Given the description of an element on the screen output the (x, y) to click on. 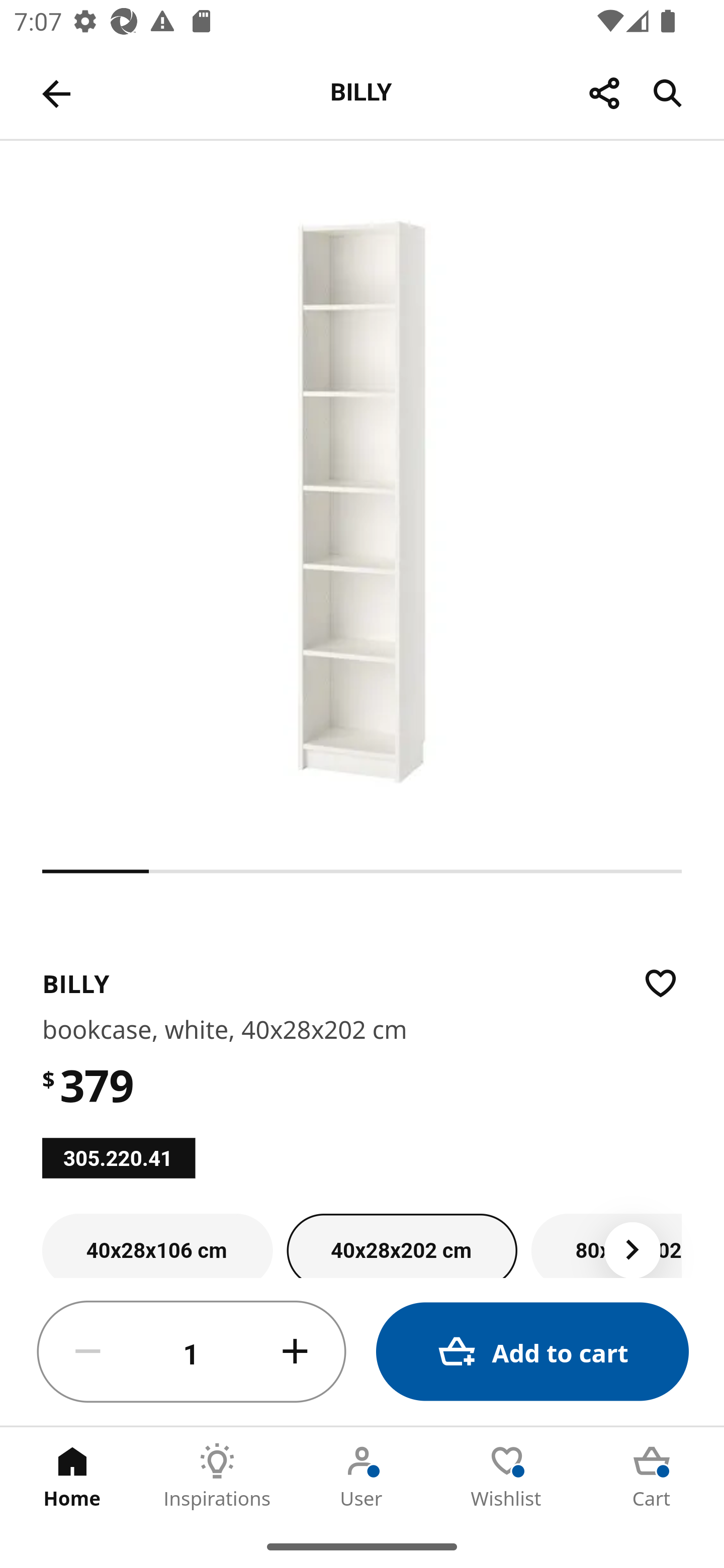
40x28x106 cm (156, 1245)
40x28x202 cm (402, 1245)
Add to cart (531, 1352)
1 (191, 1352)
Home
Tab 1 of 5 (72, 1476)
Inspirations
Tab 2 of 5 (216, 1476)
User
Tab 3 of 5 (361, 1476)
Wishlist
Tab 4 of 5 (506, 1476)
Cart
Tab 5 of 5 (651, 1476)
